Given the description of an element on the screen output the (x, y) to click on. 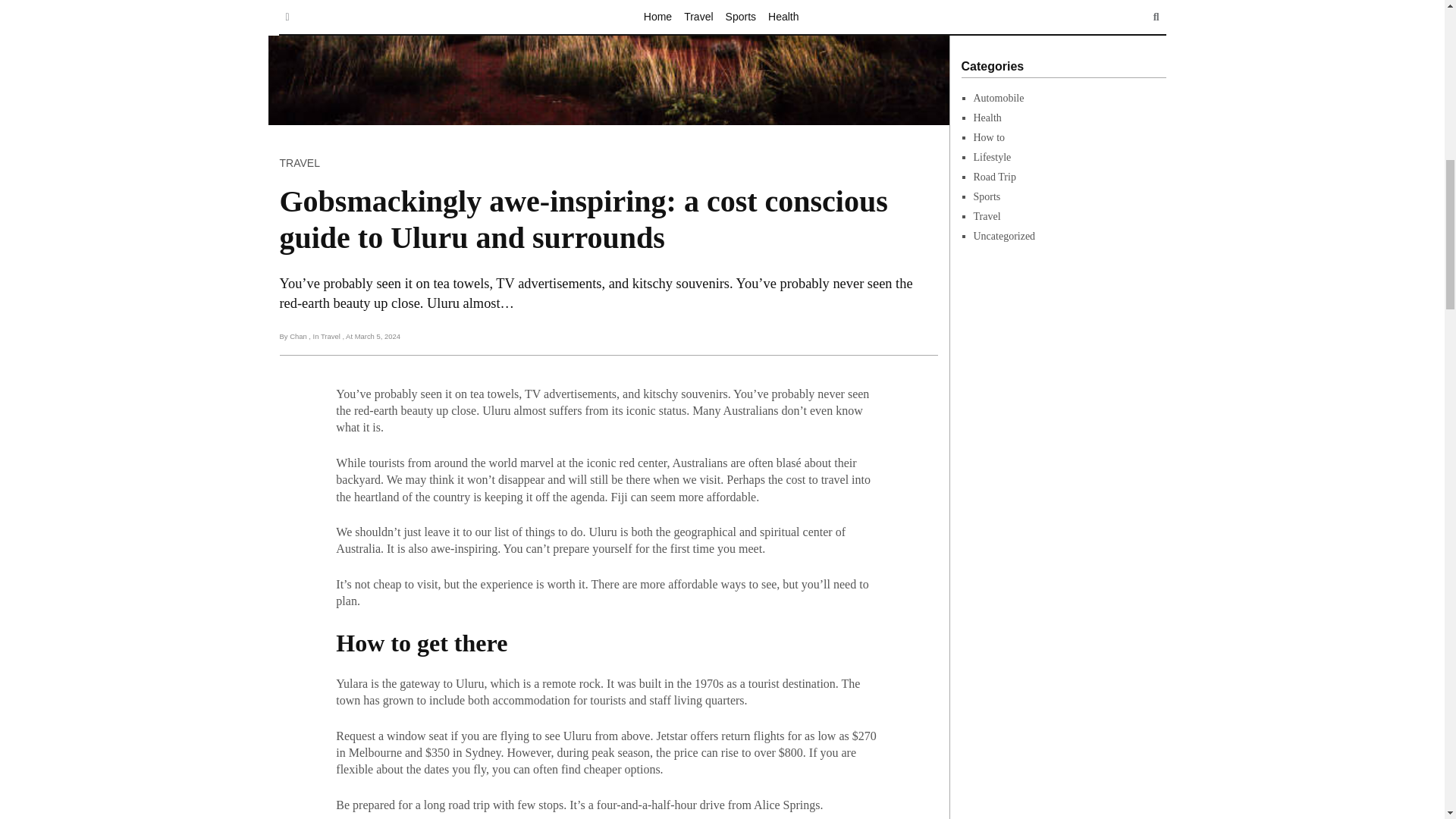
Travel (987, 215)
Uncategorized (1004, 235)
TRAVEL (298, 162)
Lifestyle (992, 156)
Health (987, 117)
How to (990, 137)
Sports (987, 196)
Road Trip (995, 176)
Automobile (999, 98)
